Given the description of an element on the screen output the (x, y) to click on. 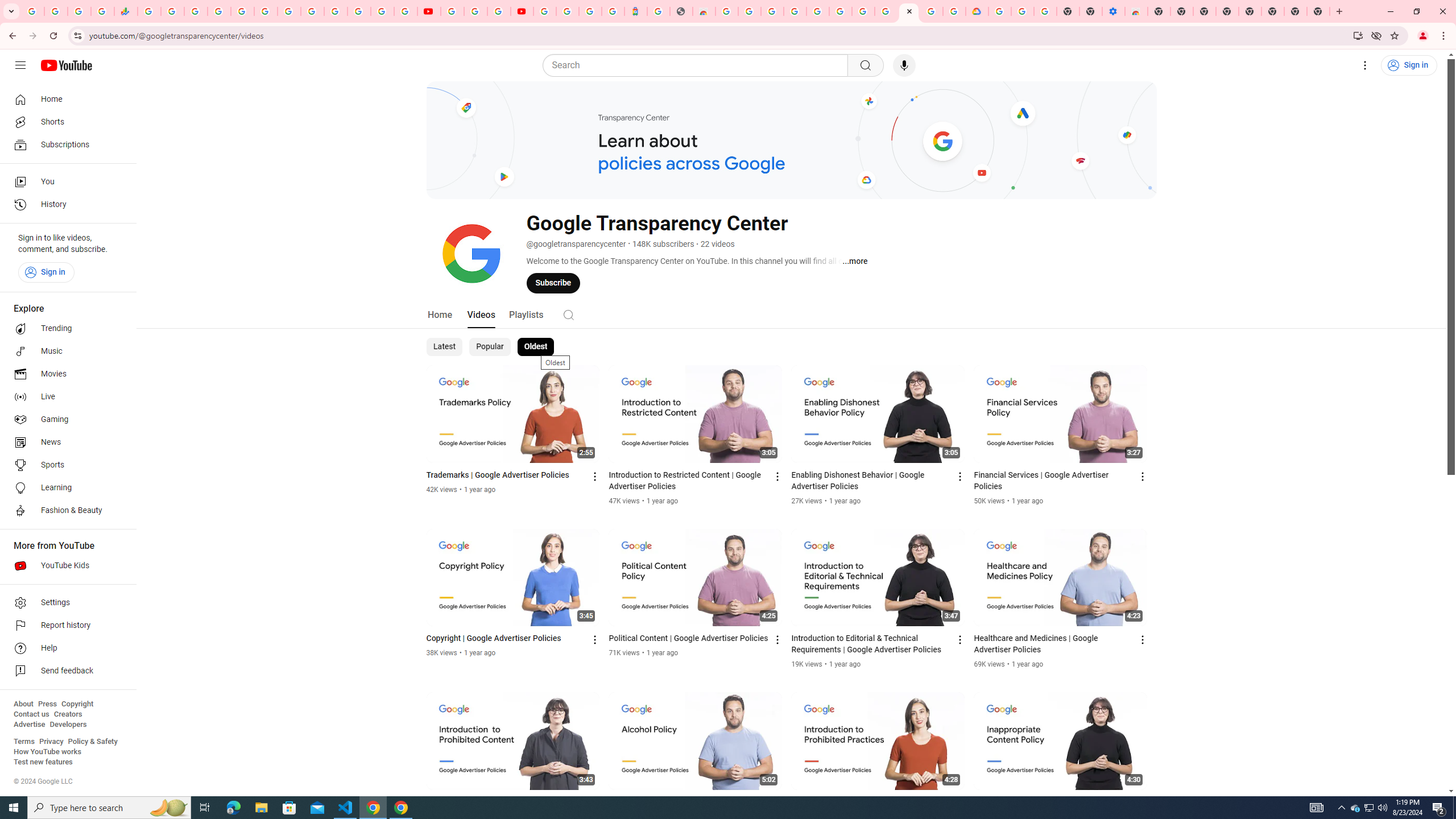
Atour Hotel - Google hotels (635, 11)
Report history (64, 625)
Privacy Checkup (405, 11)
Sign in - Google Accounts (817, 11)
Sign in - Google Accounts (567, 11)
Guide (20, 65)
Policy & Safety (91, 741)
New Tab (1318, 11)
